Given the description of an element on the screen output the (x, y) to click on. 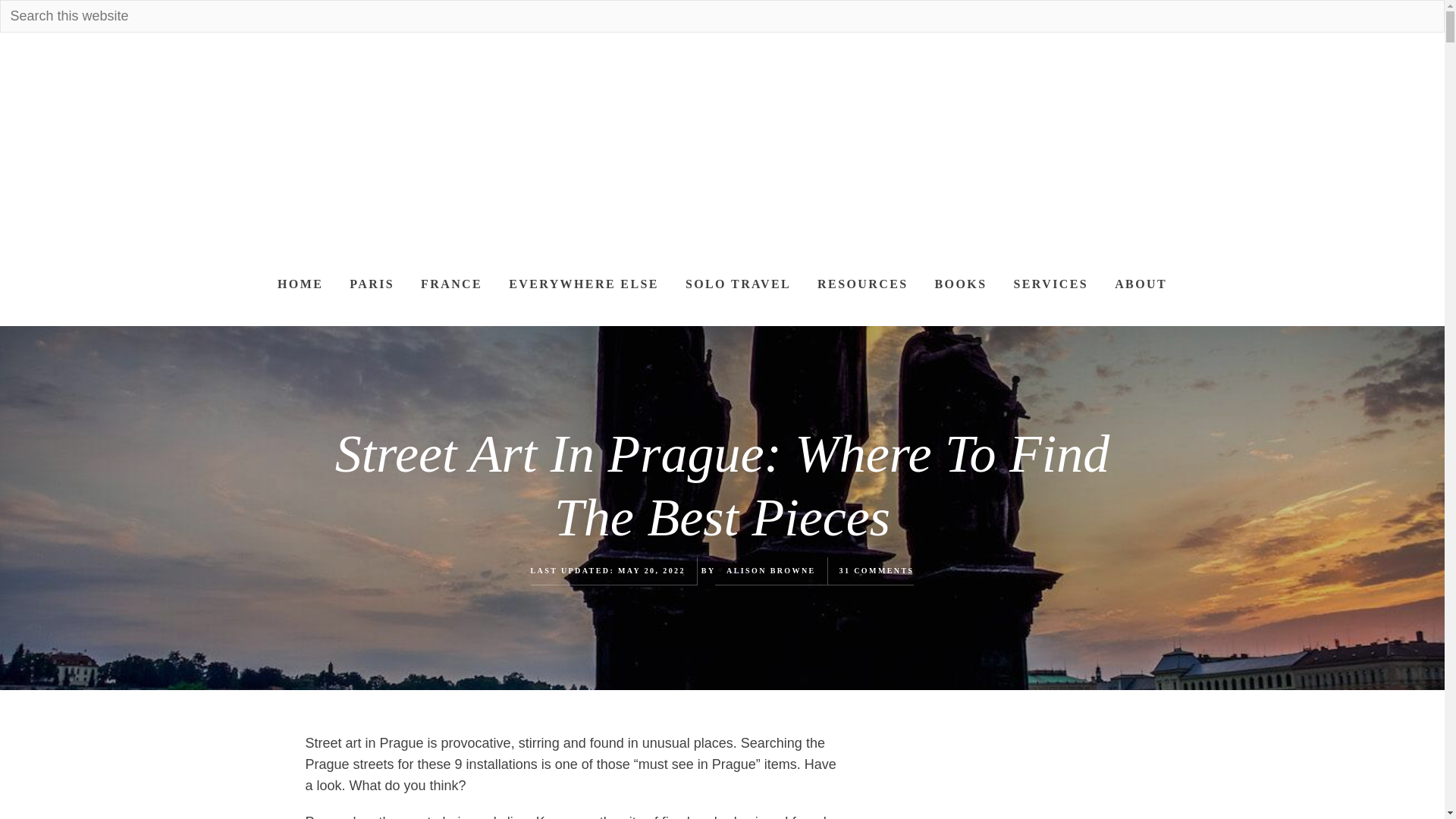
EVERYWHERE ELSE (583, 284)
SOLO TRAVEL (738, 284)
RESOURCES (862, 284)
FRANCE (451, 284)
BOOKS (960, 284)
SERVICES (1050, 284)
